Given the description of an element on the screen output the (x, y) to click on. 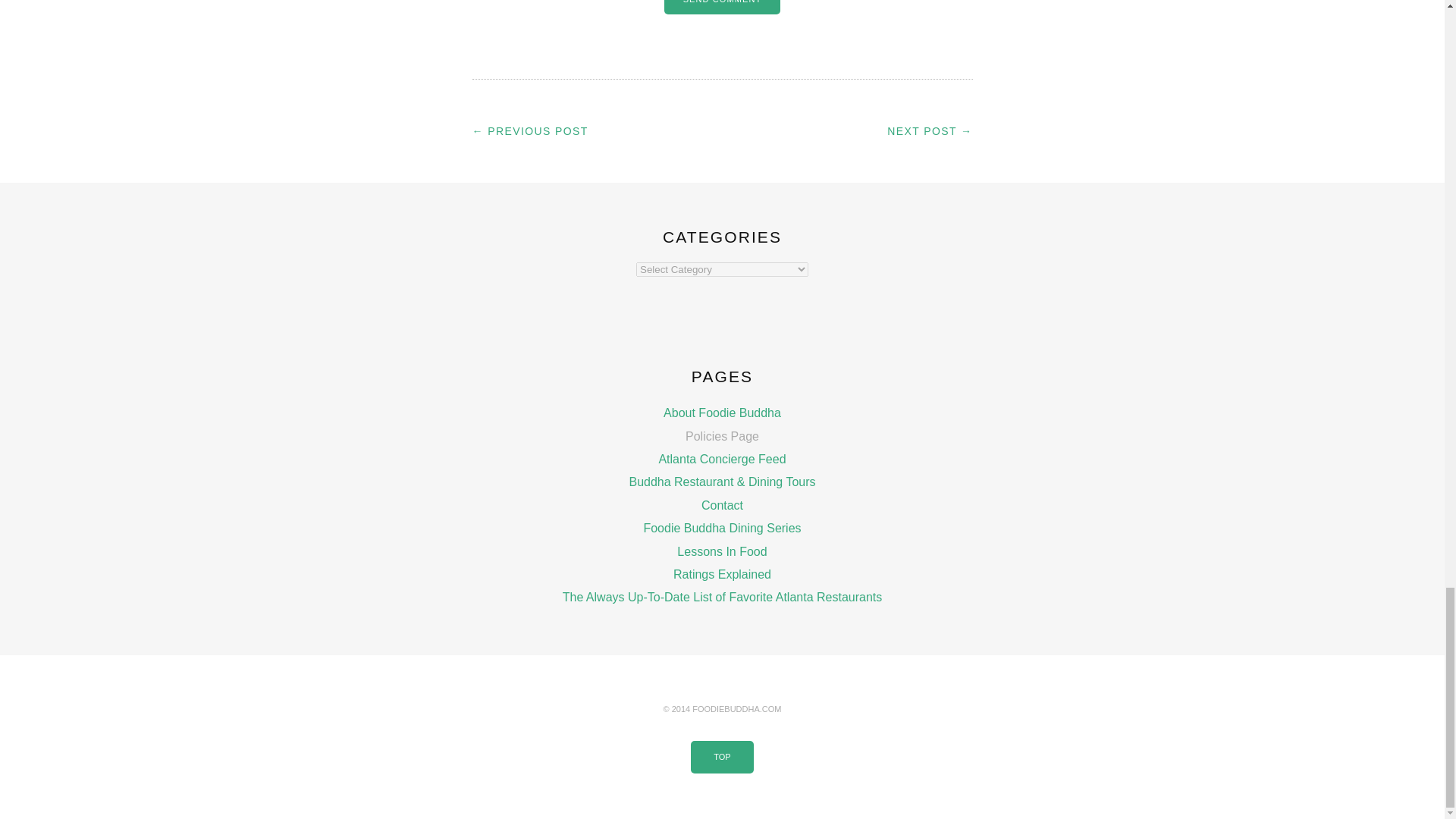
Policies Page (721, 436)
Send Comment (721, 7)
Atlanta Concierge Feed (722, 459)
Contact (721, 504)
About Foodie Buddha (721, 412)
Foodie Buddha Dining Series (721, 527)
Send Comment (721, 7)
